Given the description of an element on the screen output the (x, y) to click on. 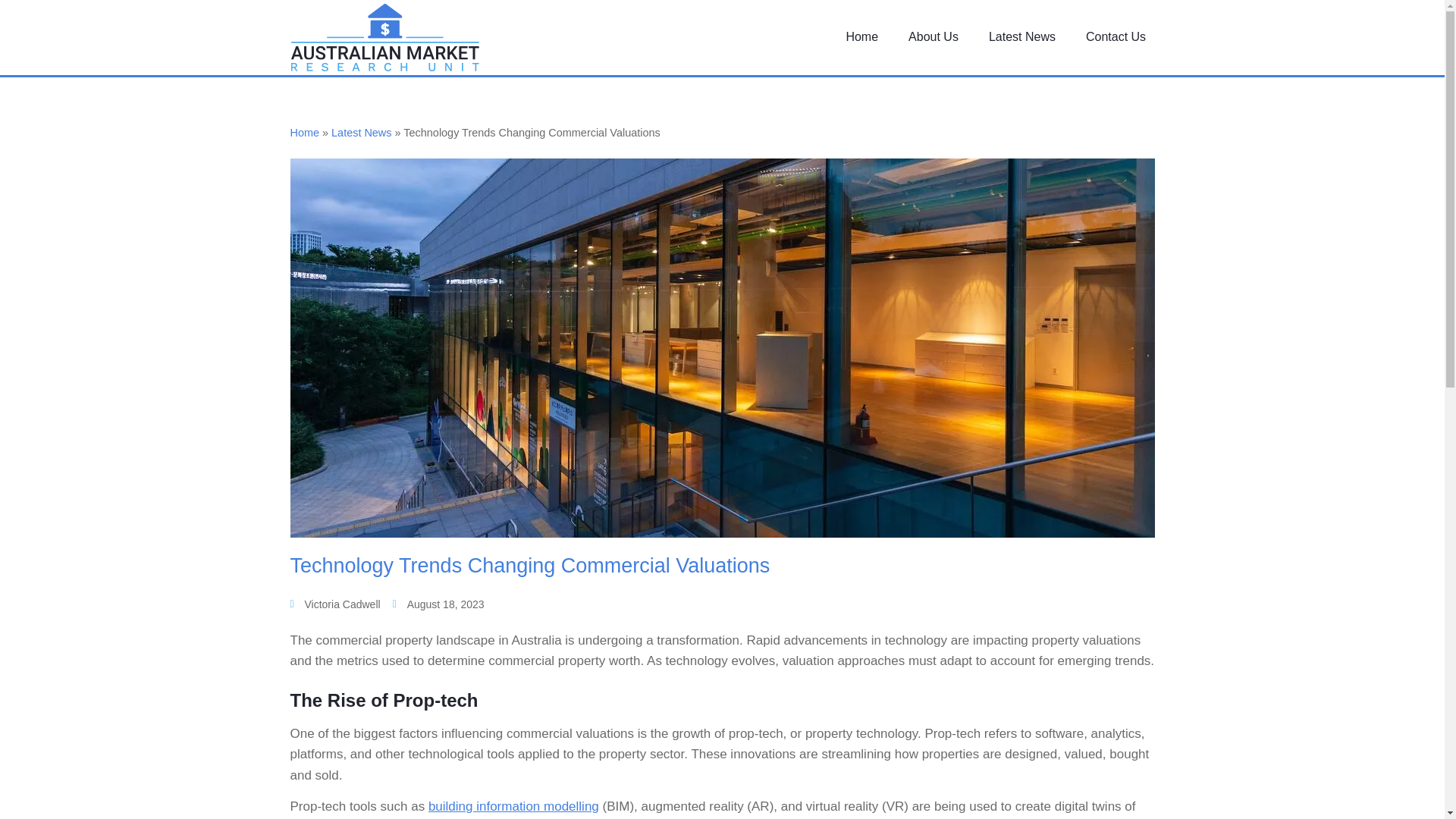
Home (303, 132)
About Us (933, 36)
Home (861, 36)
building information modelling (513, 806)
Contact Us (1115, 36)
Latest News (1021, 36)
Latest News (361, 132)
